Given the description of an element on the screen output the (x, y) to click on. 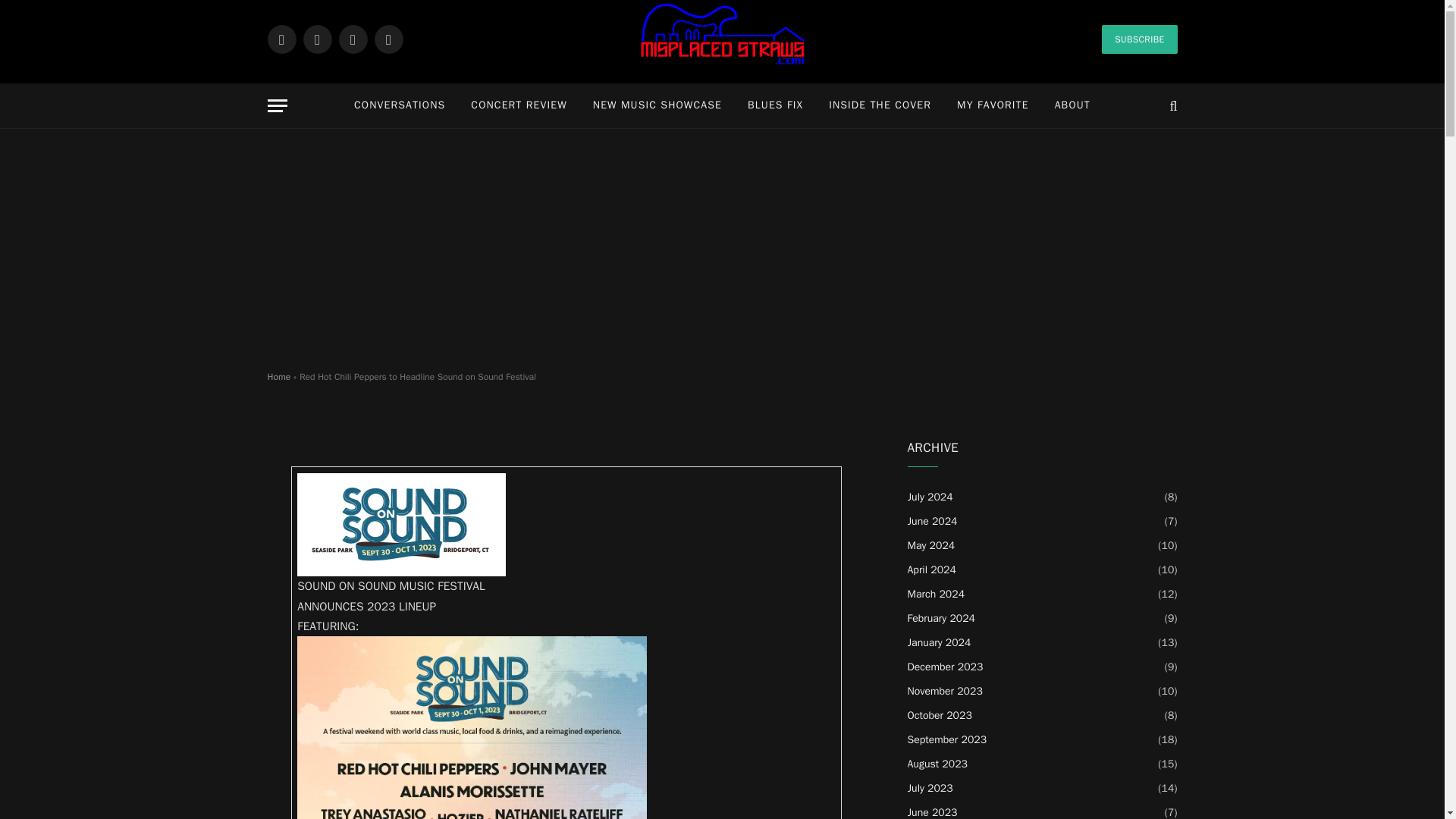
Twitter (316, 39)
Home (277, 377)
SUBSCRIBE (1139, 39)
MY FAVORITE (992, 105)
Facebook (280, 39)
CONCERT REVIEW (518, 105)
BLUES FIX (775, 105)
CONVERSATIONS (399, 105)
MisplacedStraws (722, 59)
Instagram (351, 39)
YouTube (388, 39)
NEW MUSIC SHOWCASE (657, 105)
INSIDE THE COVER (879, 105)
ABOUT (1072, 105)
